Given the description of an element on the screen output the (x, y) to click on. 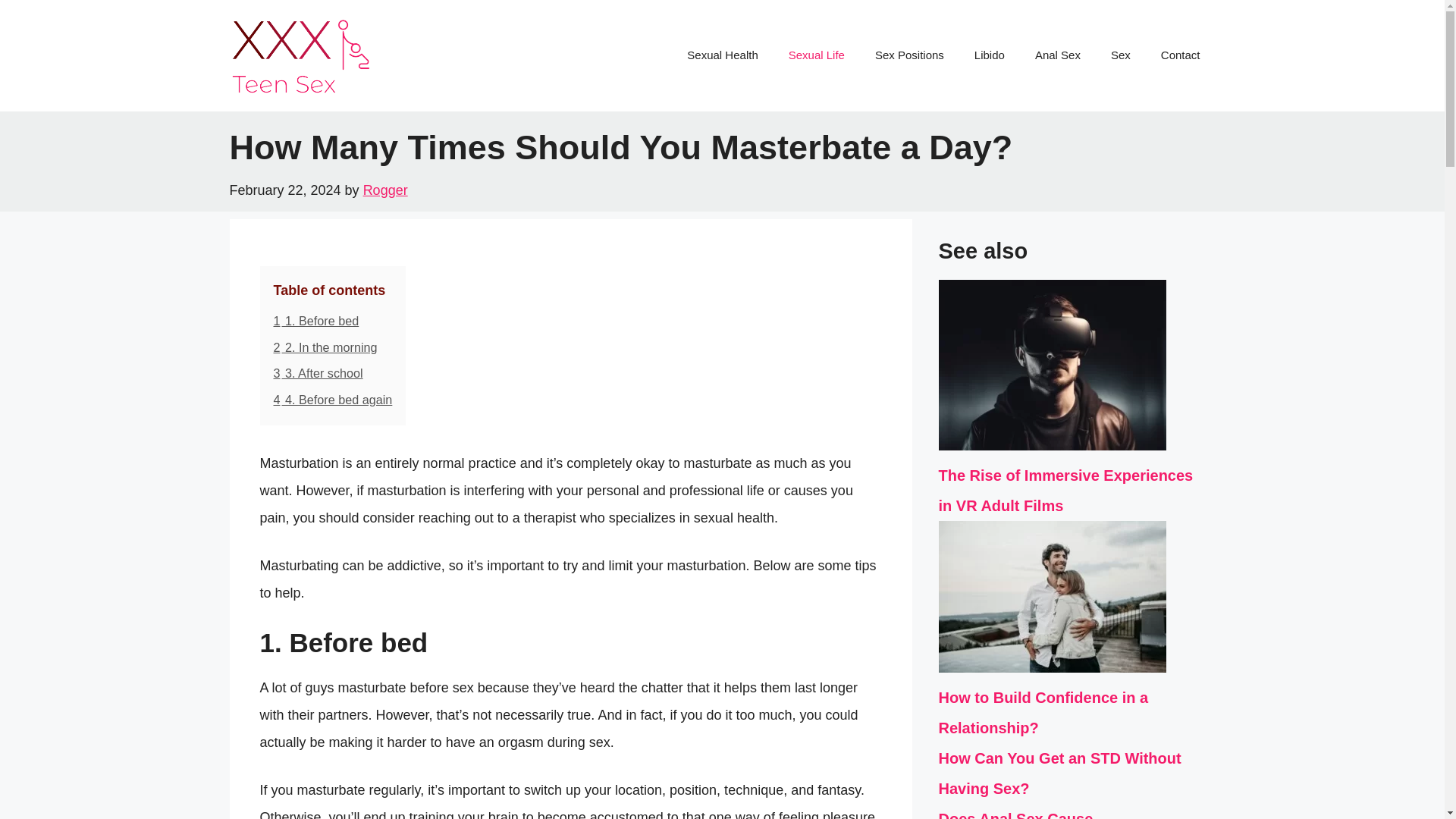
Sexual Life (816, 54)
Libido (989, 54)
Sex Positions (909, 54)
1 1. Before bed (315, 320)
Sex (1120, 54)
4 4. Before bed again (332, 399)
The Rise of Immersive Experiences in VR Adult Films 2 (1052, 365)
View all posts by Rogger (384, 190)
Sexual Health (722, 54)
Contact (1180, 54)
